Given the description of an element on the screen output the (x, y) to click on. 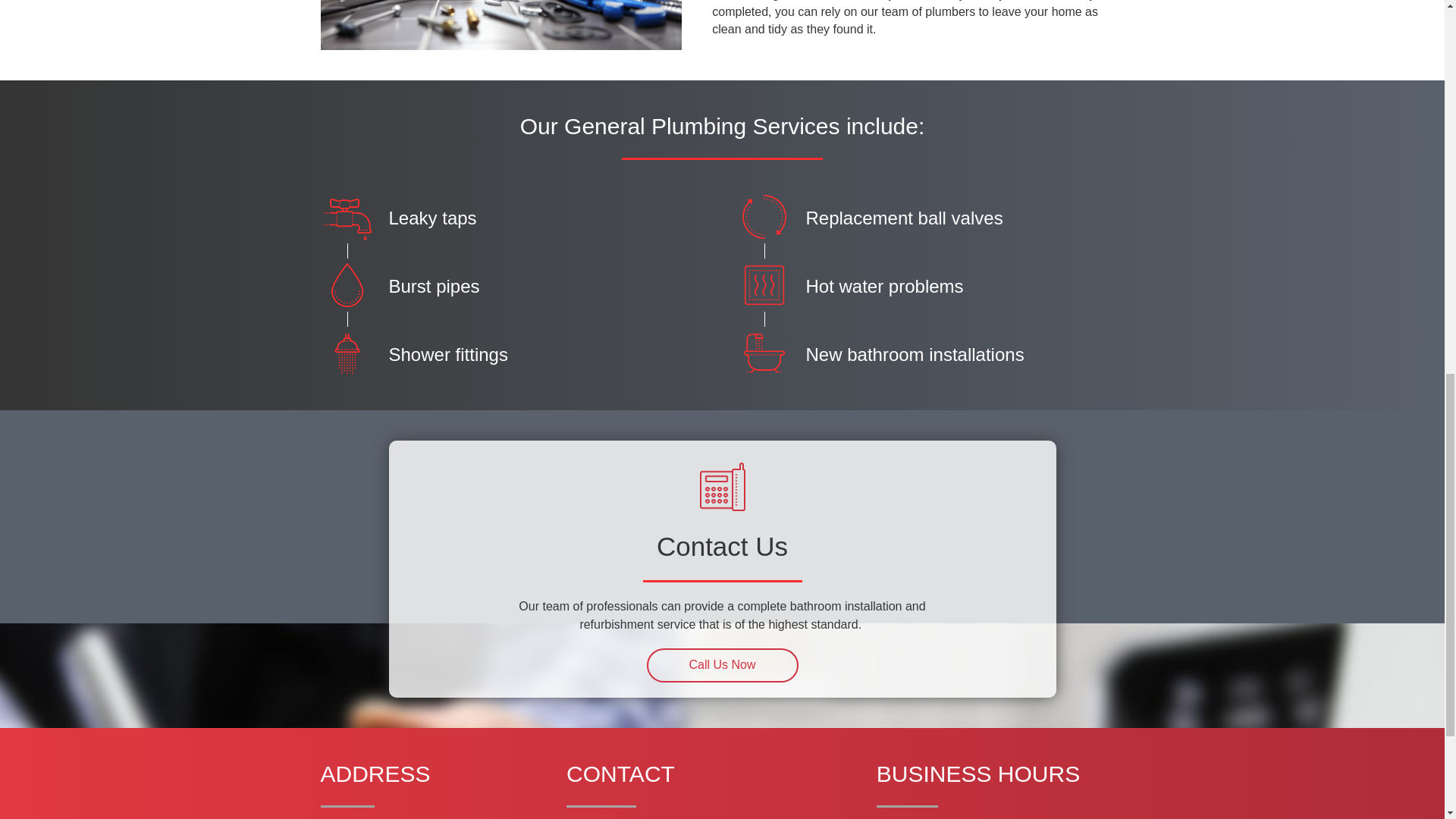
icons8-heating-240 (763, 285)
Call Us Now (721, 665)
icons8-replace-240 (763, 216)
icons8-office-phone-240 (721, 489)
icons8-plumbing-240 (346, 216)
icons8-water-240 (346, 285)
